Given the description of an element on the screen output the (x, y) to click on. 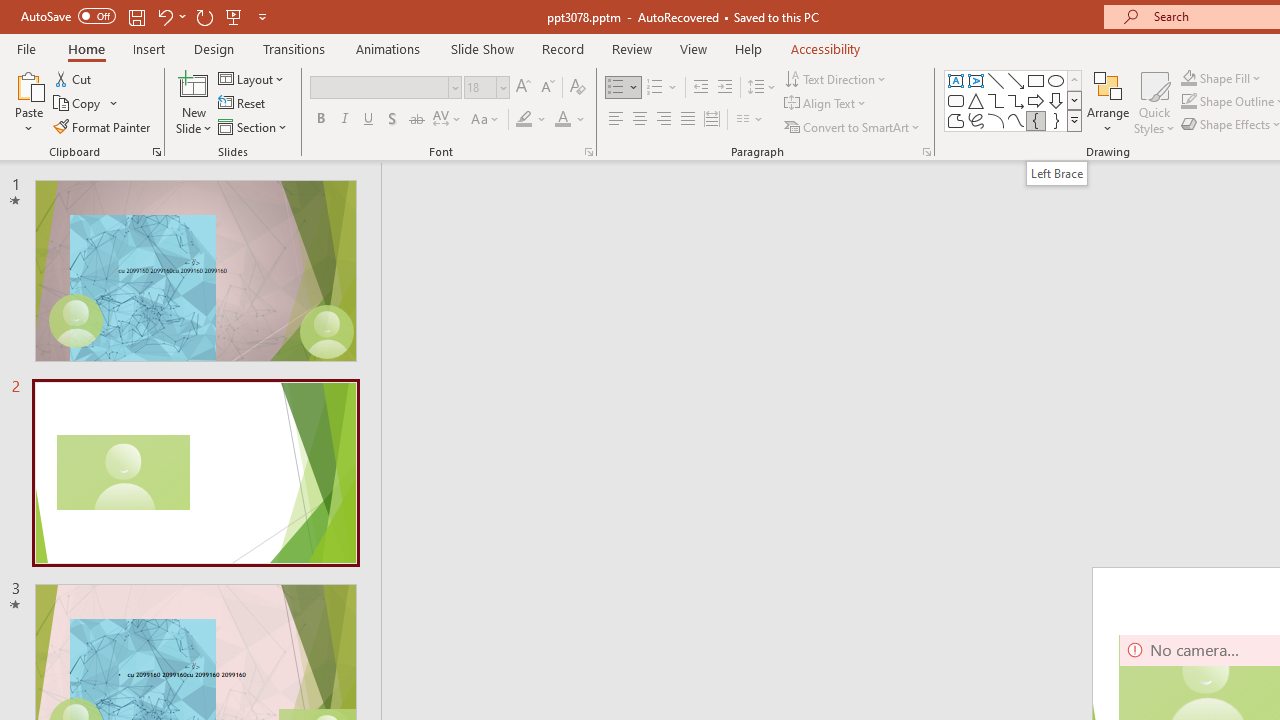
Row Down (1074, 100)
Shape Fill (1221, 78)
Italic (344, 119)
Line Spacing (762, 87)
Section (254, 126)
Arrow: Right (1035, 100)
Cut (73, 78)
Reset (243, 103)
Font Color (569, 119)
Rectangle: Rounded Corners (955, 100)
Columns (750, 119)
